Given the description of an element on the screen output the (x, y) to click on. 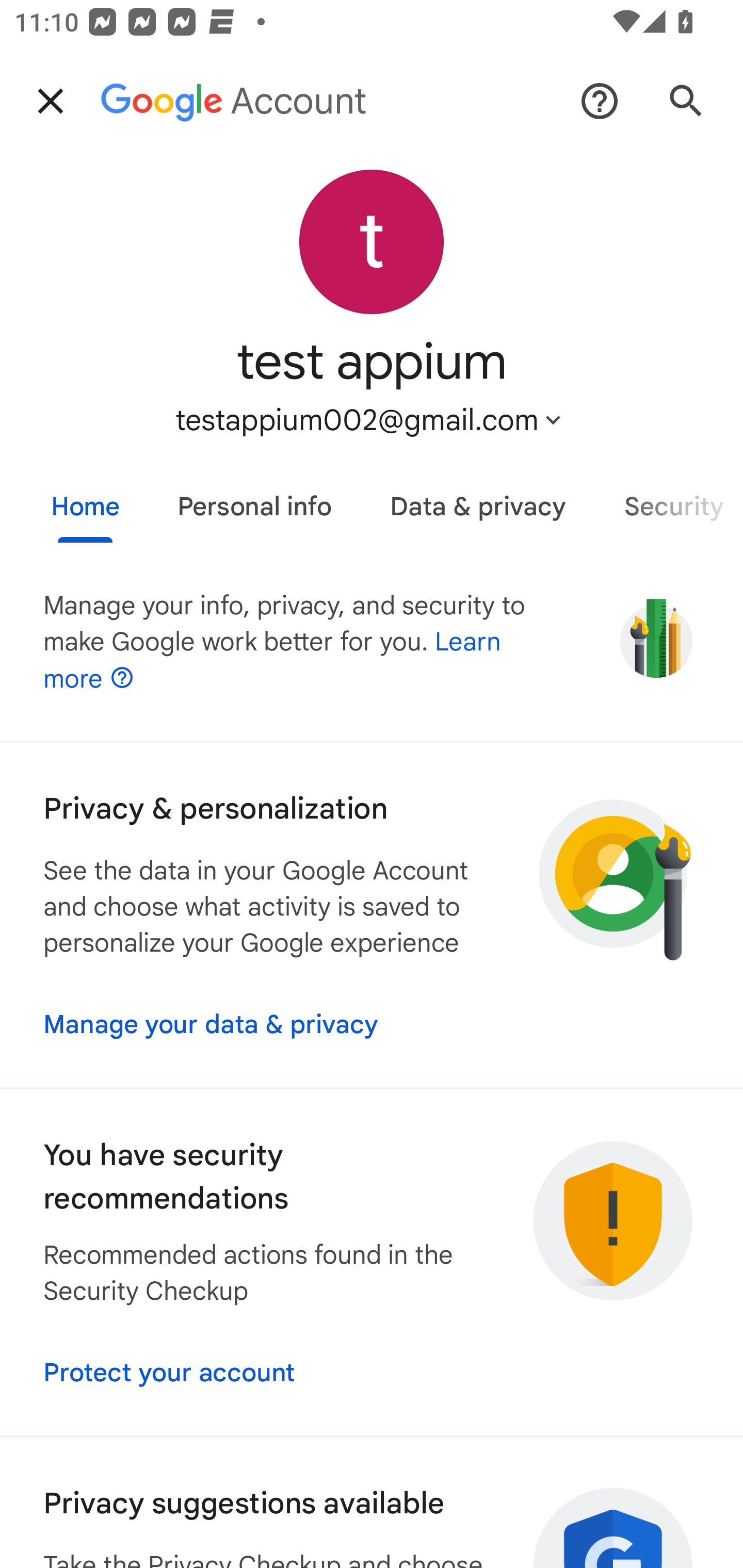
Close (50, 101)
Help (599, 101)
Search (685, 101)
Personal info (254, 499)
Data & privacy (477, 499)
Security (669, 499)
